Given the description of an element on the screen output the (x, y) to click on. 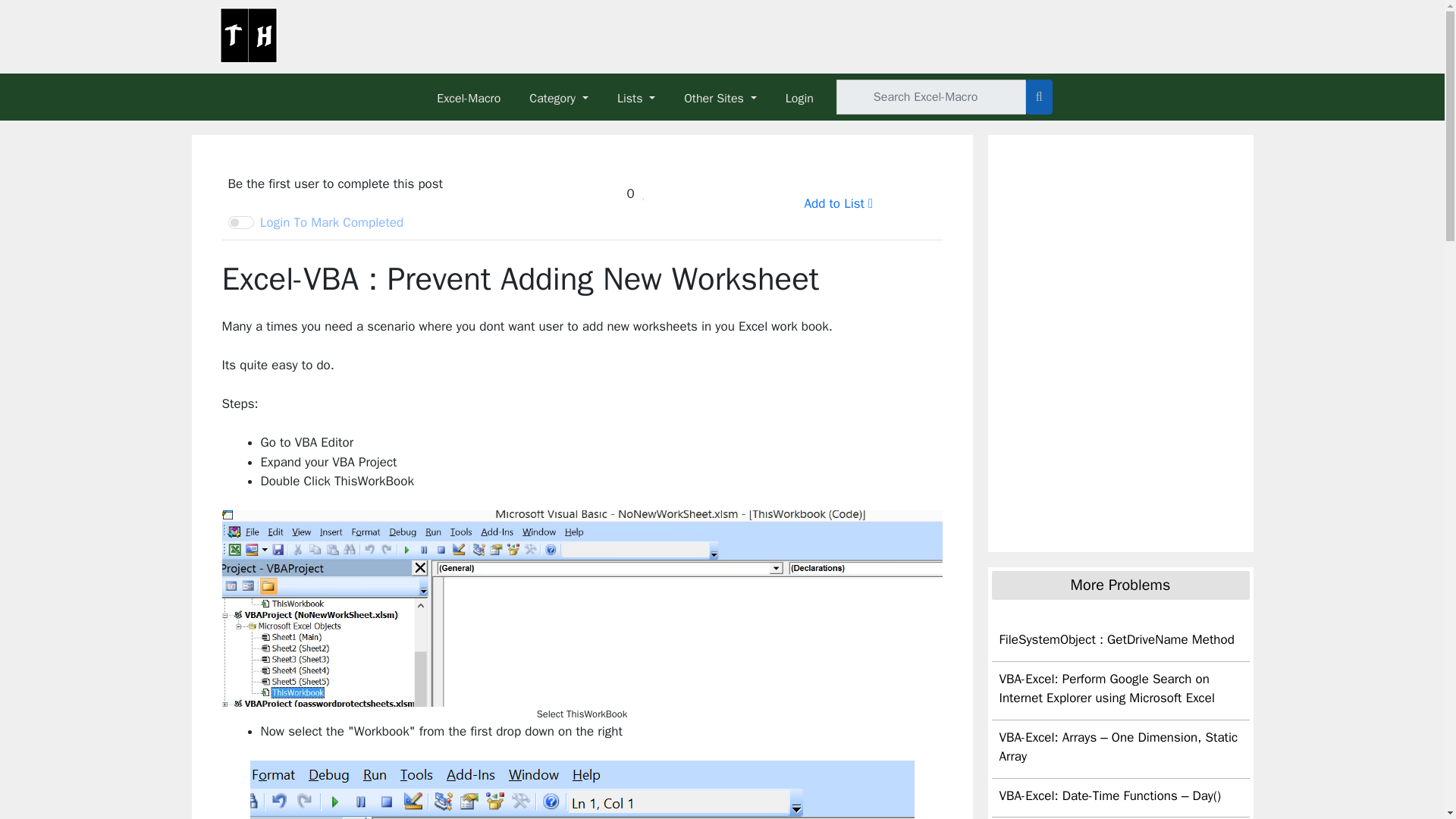
Advertisement (976, 33)
Login (806, 96)
Algorithms (247, 31)
Algorithms (248, 31)
Other Sites (728, 96)
Login To Mark Completed (315, 221)
Add to List (837, 203)
Excel-Macro (476, 96)
Advertisement (1105, 447)
Login to complete (315, 222)
Category (566, 96)
on (240, 222)
Lists (644, 96)
